Given the description of an element on the screen output the (x, y) to click on. 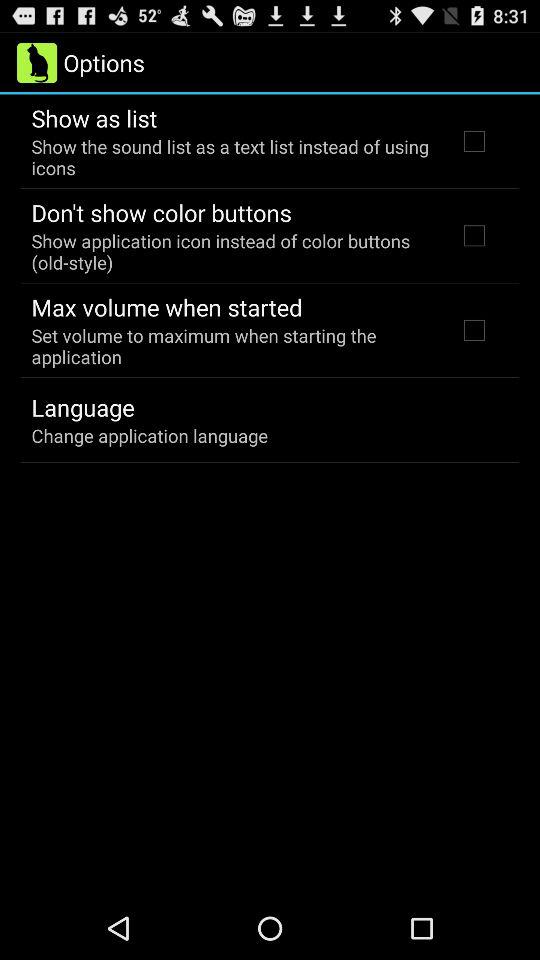
launch app below the show as list icon (231, 157)
